Given the description of an element on the screen output the (x, y) to click on. 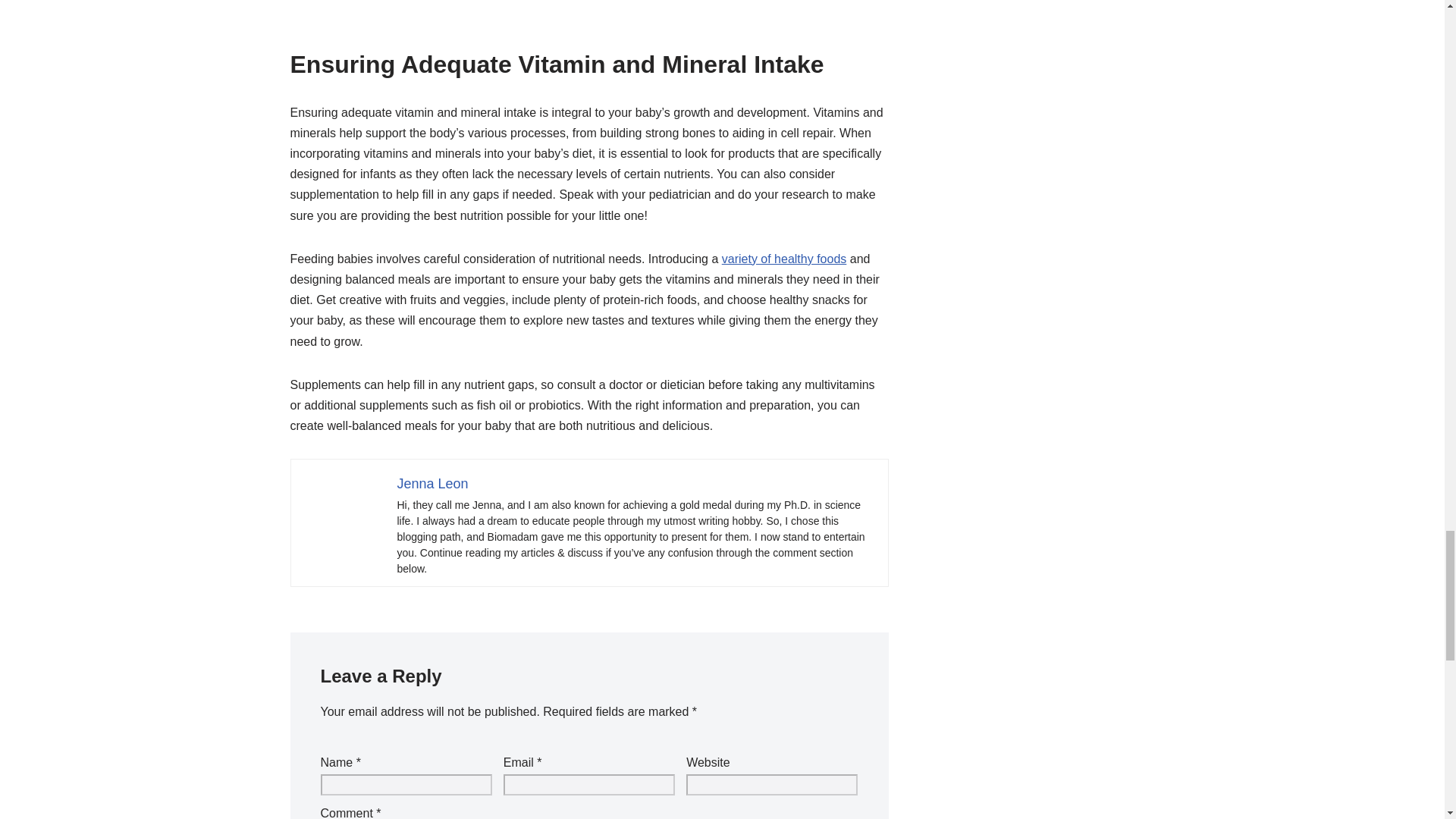
variety of healthy foods (784, 258)
Jenna Leon (432, 483)
